Given the description of an element on the screen output the (x, y) to click on. 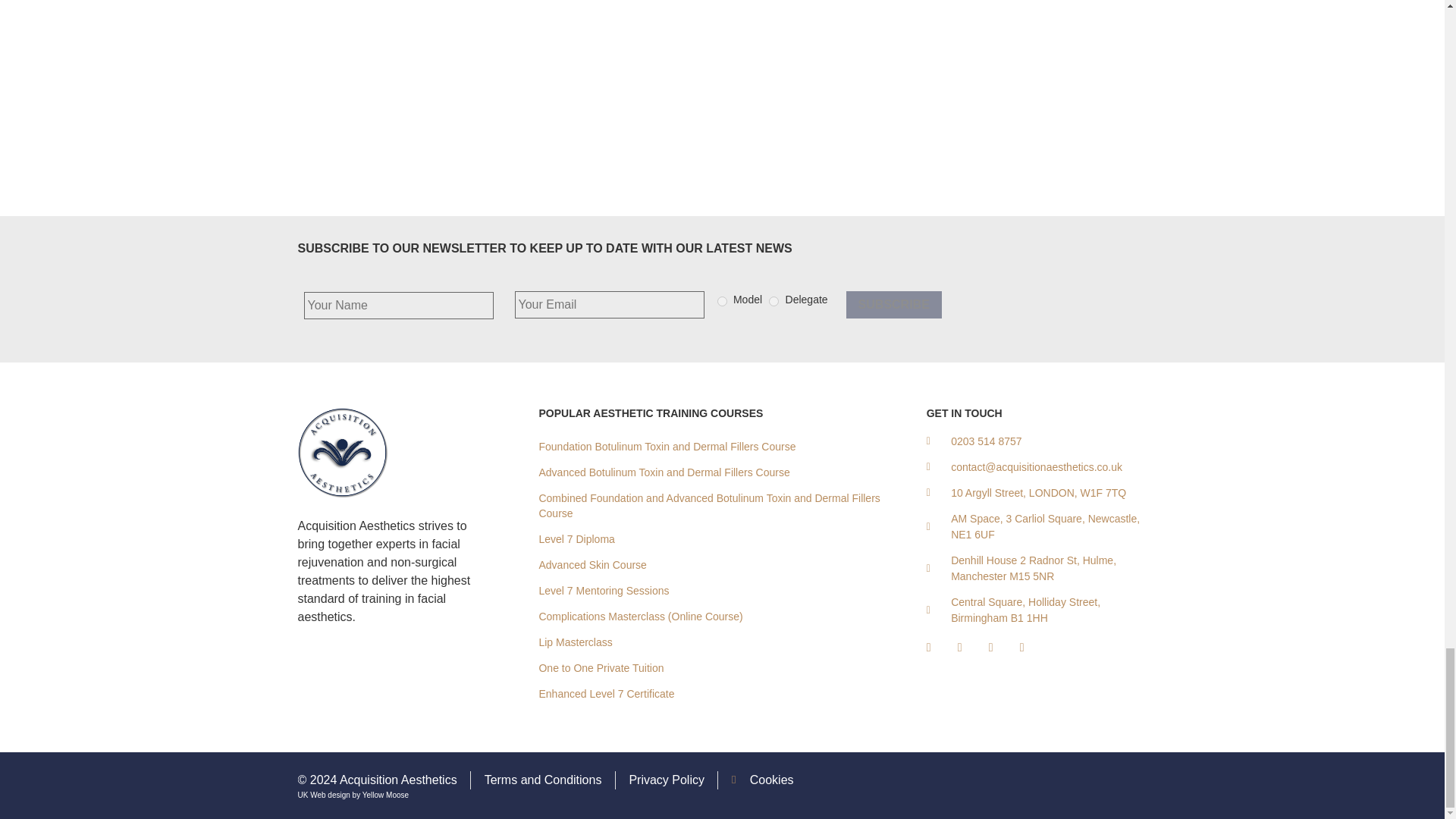
Model (721, 301)
SUBSCRIBE (893, 304)
Delegate (773, 301)
